Given the description of an element on the screen output the (x, y) to click on. 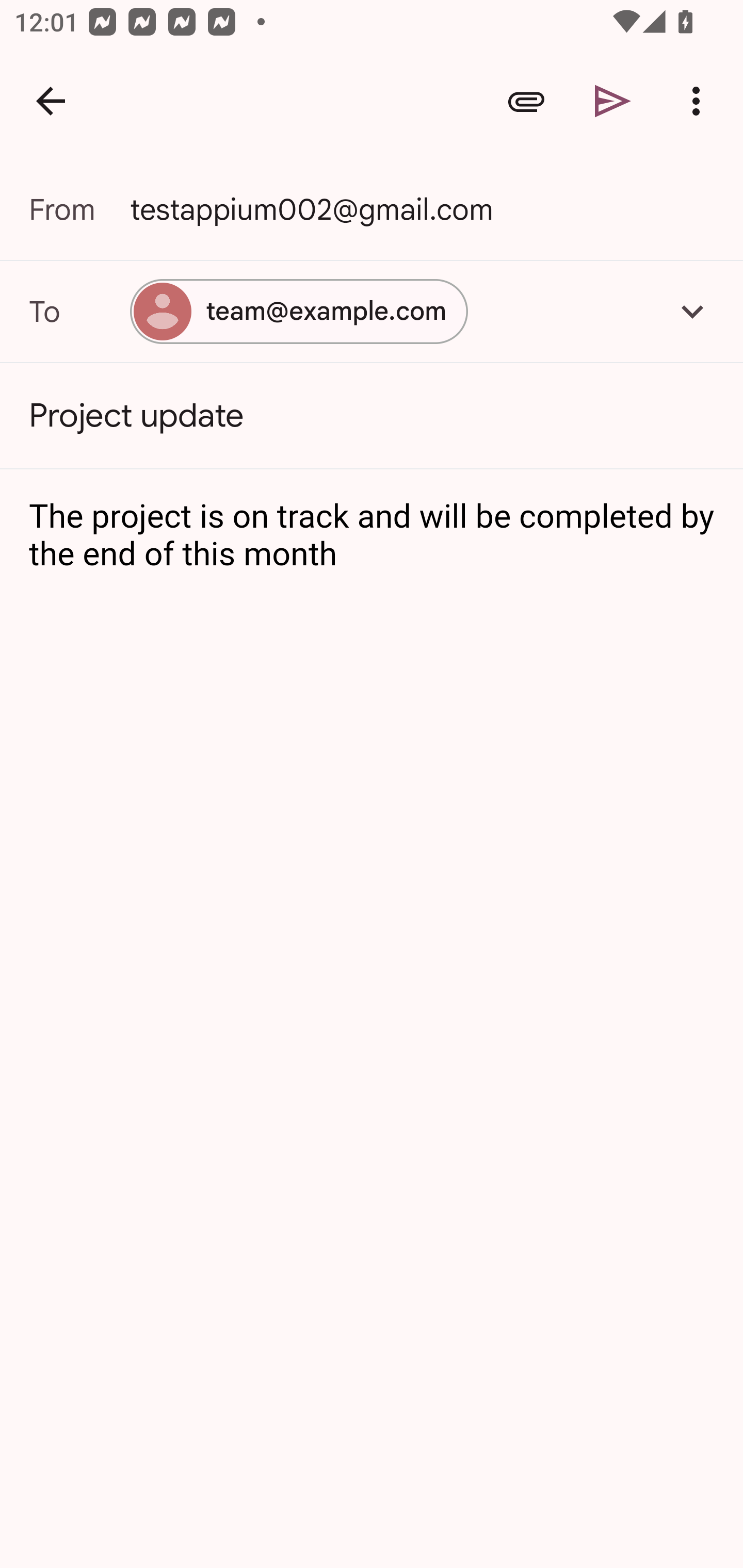
Navigate up (50, 101)
Attach file (525, 101)
Send (612, 101)
More options (699, 101)
From (79, 209)
Add Cc/Bcc (692, 311)
Project update (371, 415)
